Given the description of an element on the screen output the (x, y) to click on. 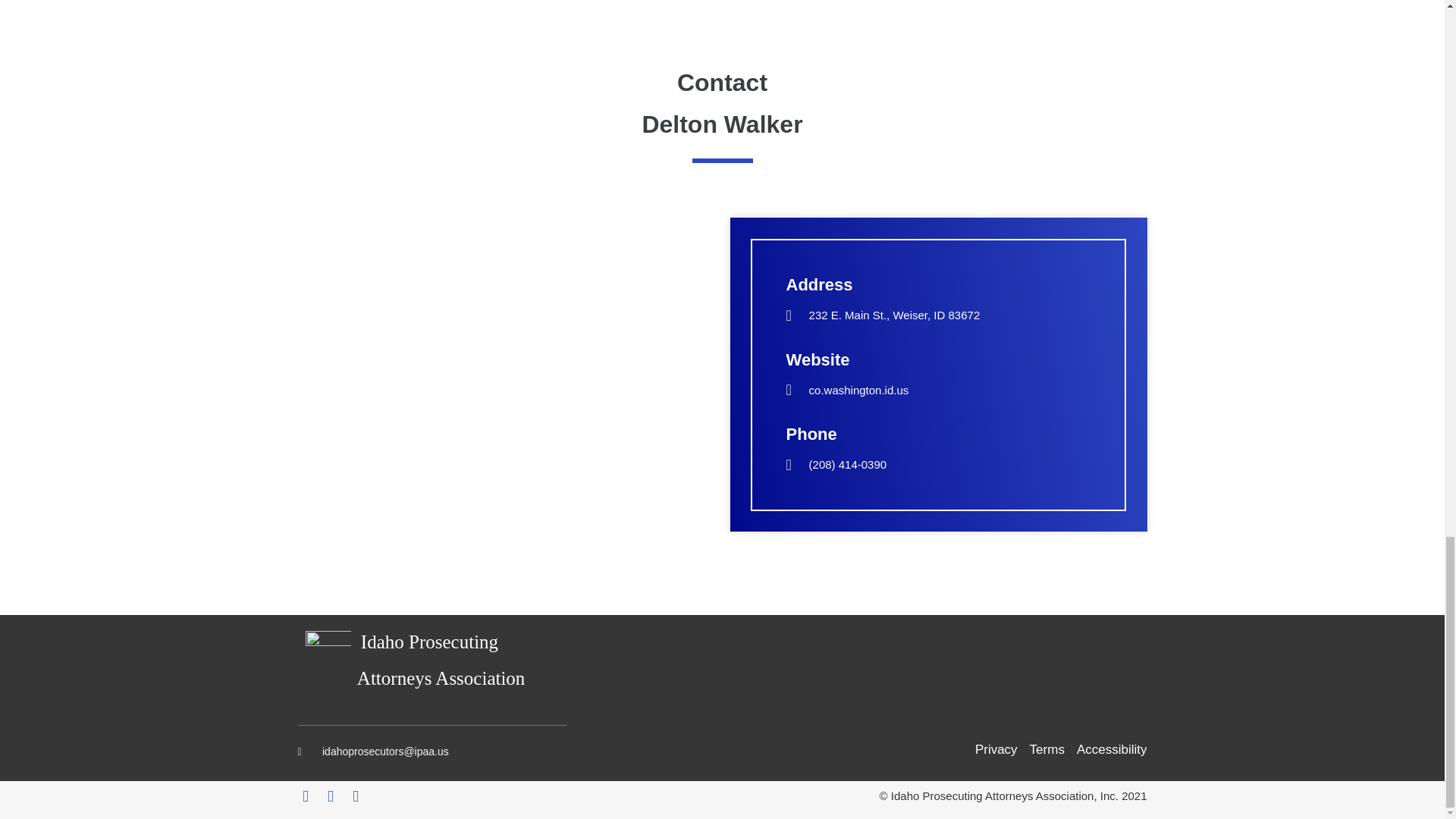
232 E. Main St., Weiser, ID 83672 (505, 362)
Privacy (996, 749)
co.washington.id.us (938, 390)
